Given the description of an element on the screen output the (x, y) to click on. 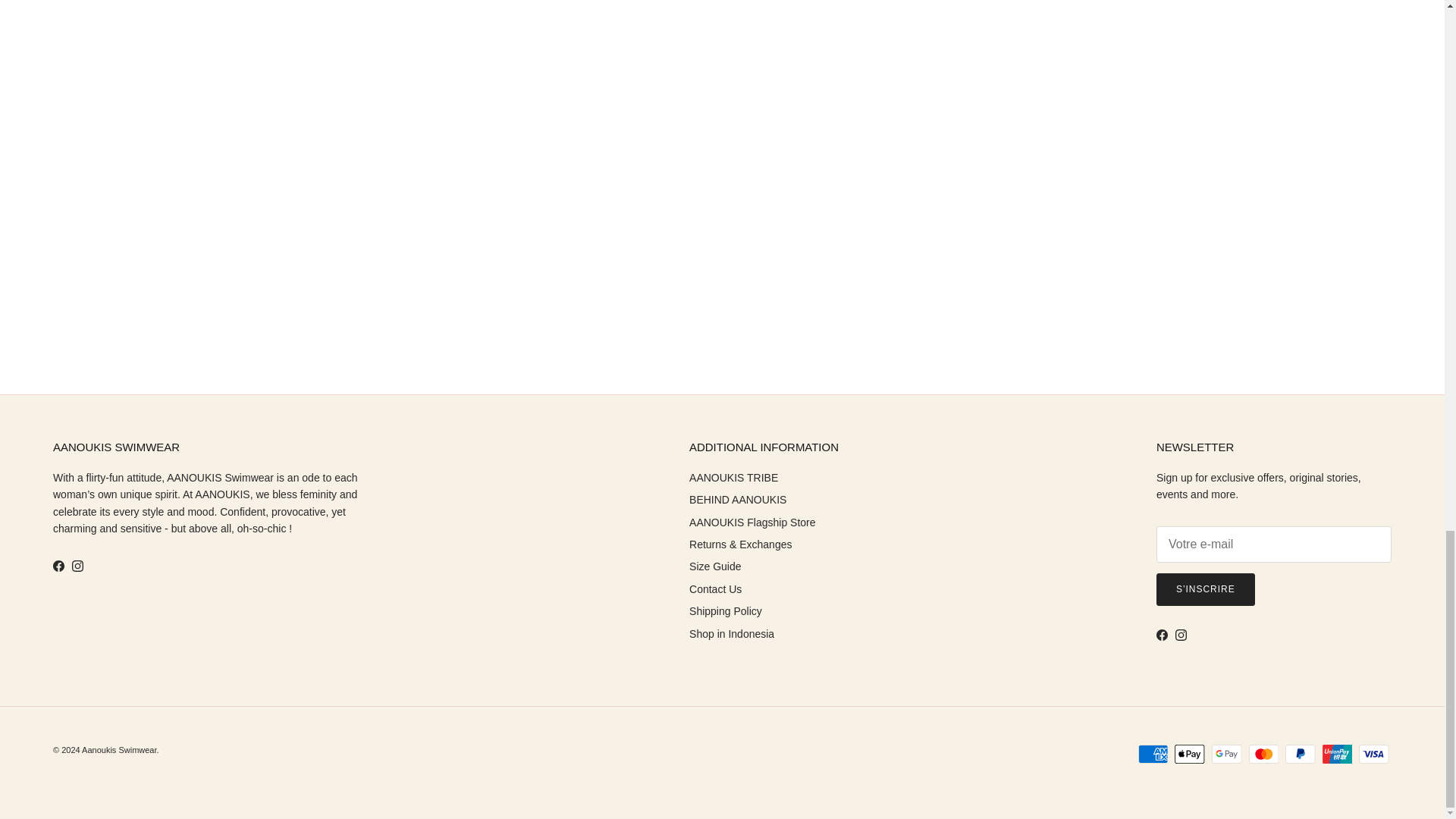
Aanoukis Swimwear sur Instagram (76, 565)
Google Pay (1226, 753)
Aanoukis Swimwear sur Facebook (58, 565)
American Express (1152, 753)
Mastercard (1262, 753)
Apple Pay (1189, 753)
Aanoukis Swimwear sur Facebook (1161, 634)
Aanoukis Swimwear sur Instagram (1180, 634)
